Given the description of an element on the screen output the (x, y) to click on. 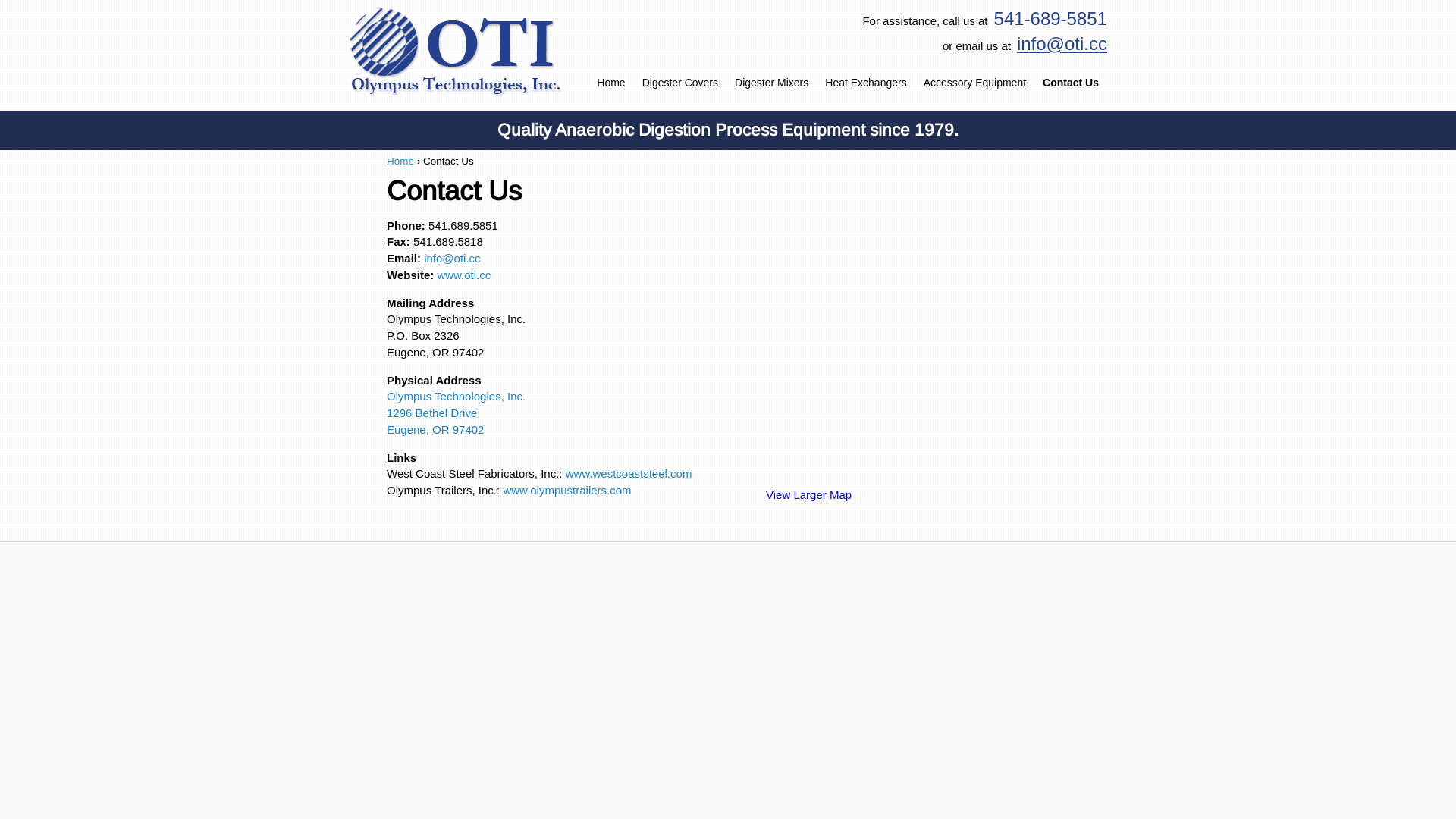
Contact Us Element type: text (1070, 82)
View Larger Map Element type: text (808, 494)
Accessory Equipment Element type: text (974, 82)
info@oti.cc Element type: text (1058, 43)
info@oti.cc Element type: text (451, 257)
www.westcoaststeel.com Element type: text (628, 473)
Home Element type: text (610, 82)
www.olympustrailers.com Element type: text (566, 489)
Digester Covers Element type: text (679, 82)
Home Element type: text (400, 160)
Heat Exchangers Element type: text (865, 82)
www.oti.cc Element type: text (463, 274)
Digester Mixers Element type: text (771, 82)
